Given the description of an element on the screen output the (x, y) to click on. 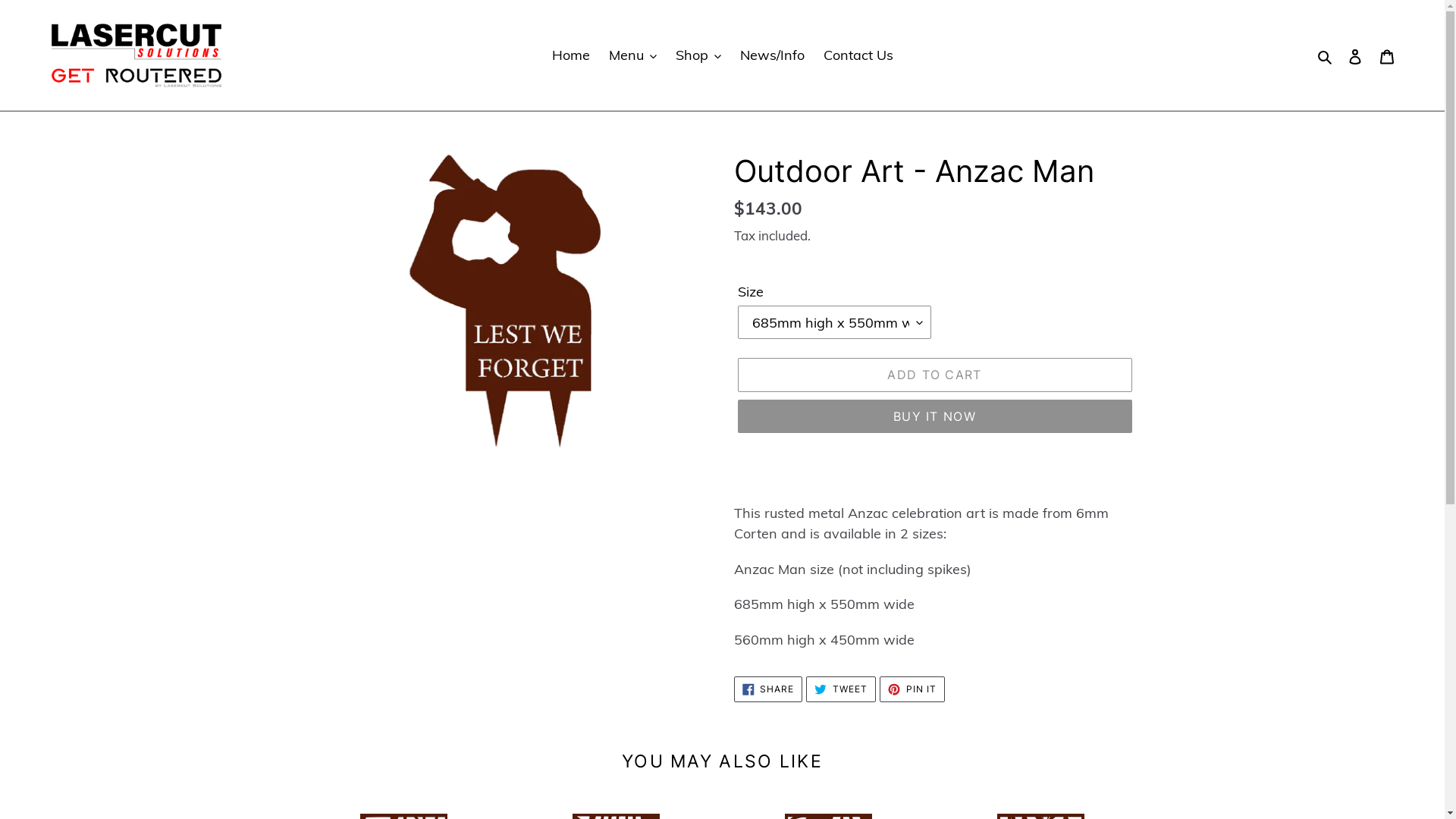
BUY IT NOW Element type: text (934, 416)
PIN IT
PIN ON PINTEREST Element type: text (911, 689)
Cart Element type: text (1386, 54)
Menu Element type: text (631, 54)
Search Element type: text (1325, 54)
Shop Element type: text (697, 54)
ADD TO CART Element type: text (934, 375)
Home Element type: text (570, 54)
SHARE
SHARE ON FACEBOOK Element type: text (768, 689)
TWEET
TWEET ON TWITTER Element type: text (840, 689)
Contact Us Element type: text (857, 54)
Log in Element type: text (1355, 54)
News/Info Element type: text (772, 54)
